Given the description of an element on the screen output the (x, y) to click on. 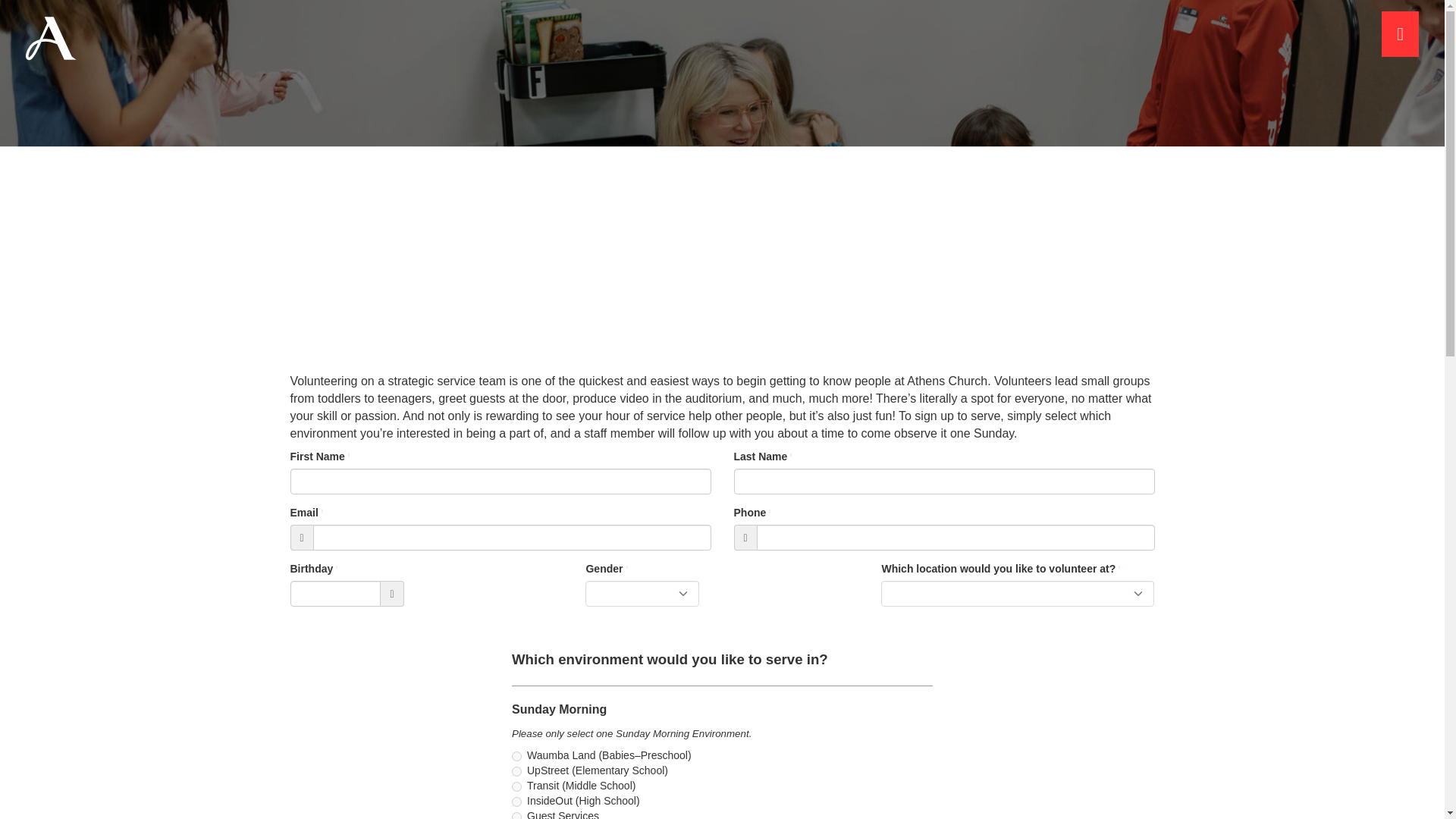
3 (516, 786)
1 (516, 756)
2 (516, 771)
4 (516, 801)
7 (516, 815)
